Given the description of an element on the screen output the (x, y) to click on. 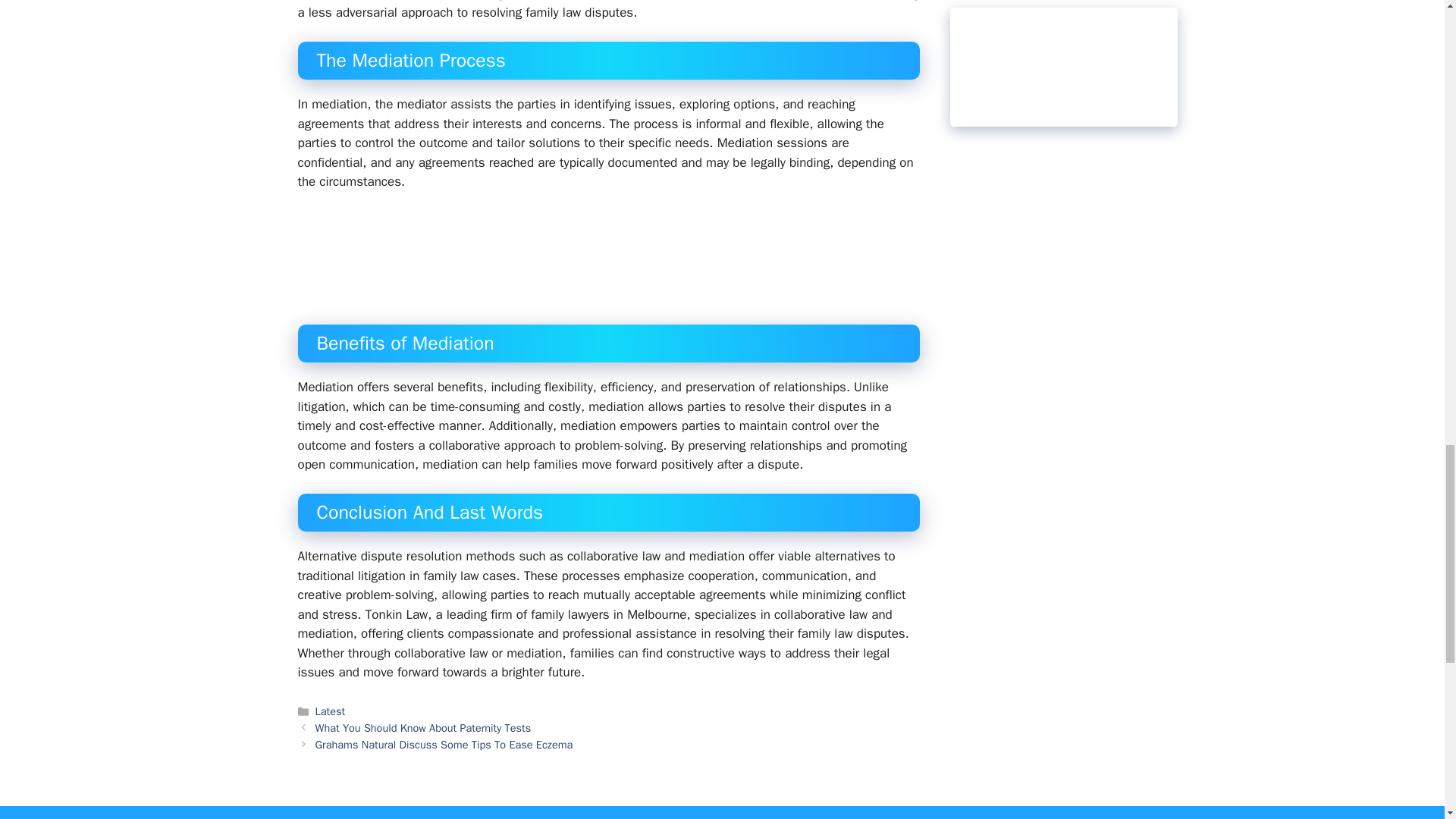
What You Should Know About Paternity Tests (423, 727)
Grahams Natural Discuss Some Tips To Ease Eczema (444, 744)
Latest (330, 711)
